Given the description of an element on the screen output the (x, y) to click on. 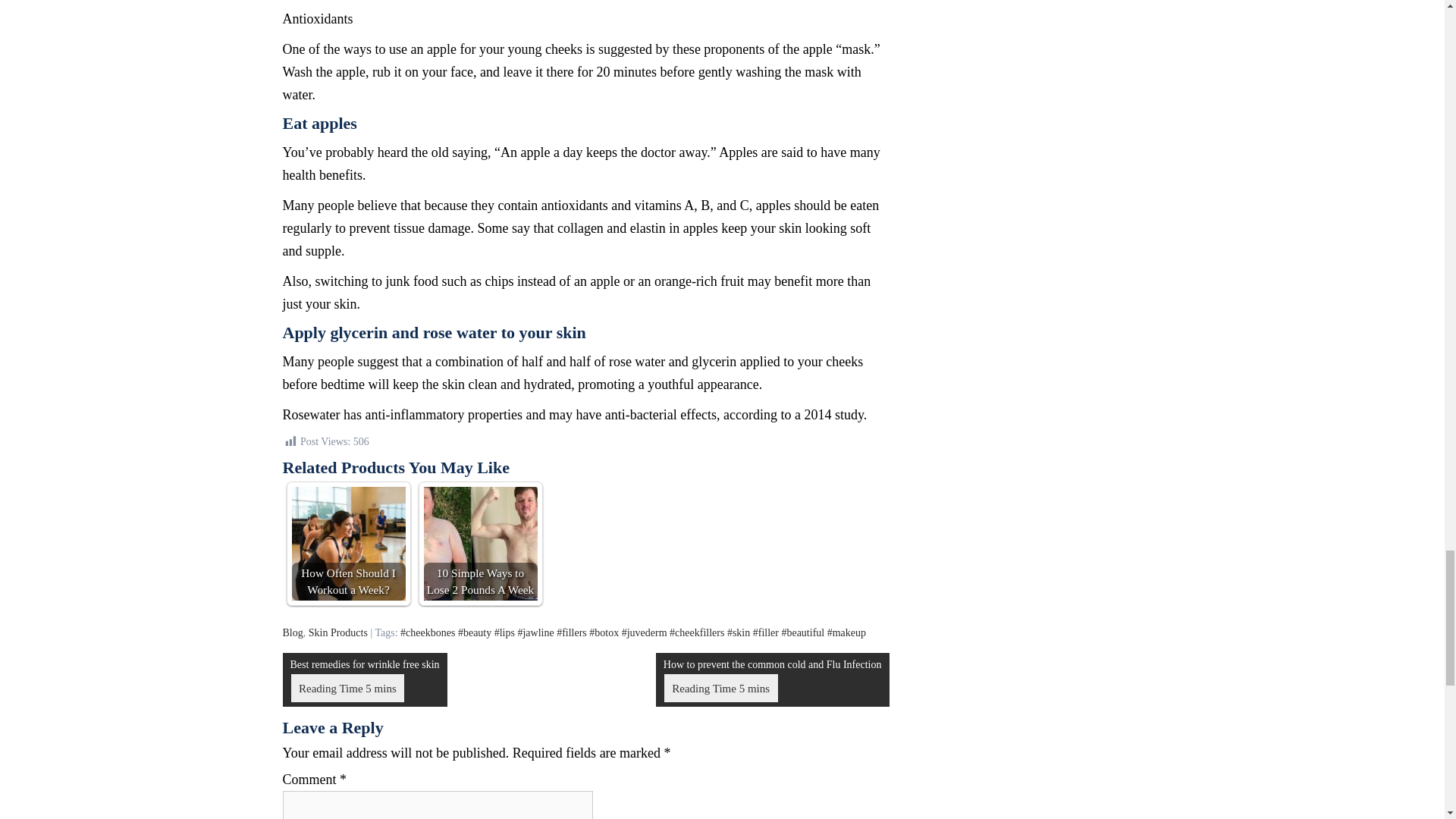
How to prevent the common cold and Flu Infection (772, 679)
10 Simple Ways to Lose 2 Pounds A Week (480, 543)
Skin Products (338, 632)
How Often Should I Workout a Week? (347, 543)
How Often Should I Workout a Week? (347, 543)
Blog (292, 632)
10 Simple Ways to Lose 2 Pounds A Week (480, 543)
Best remedies for wrinkle free skin (364, 679)
